Given the description of an element on the screen output the (x, y) to click on. 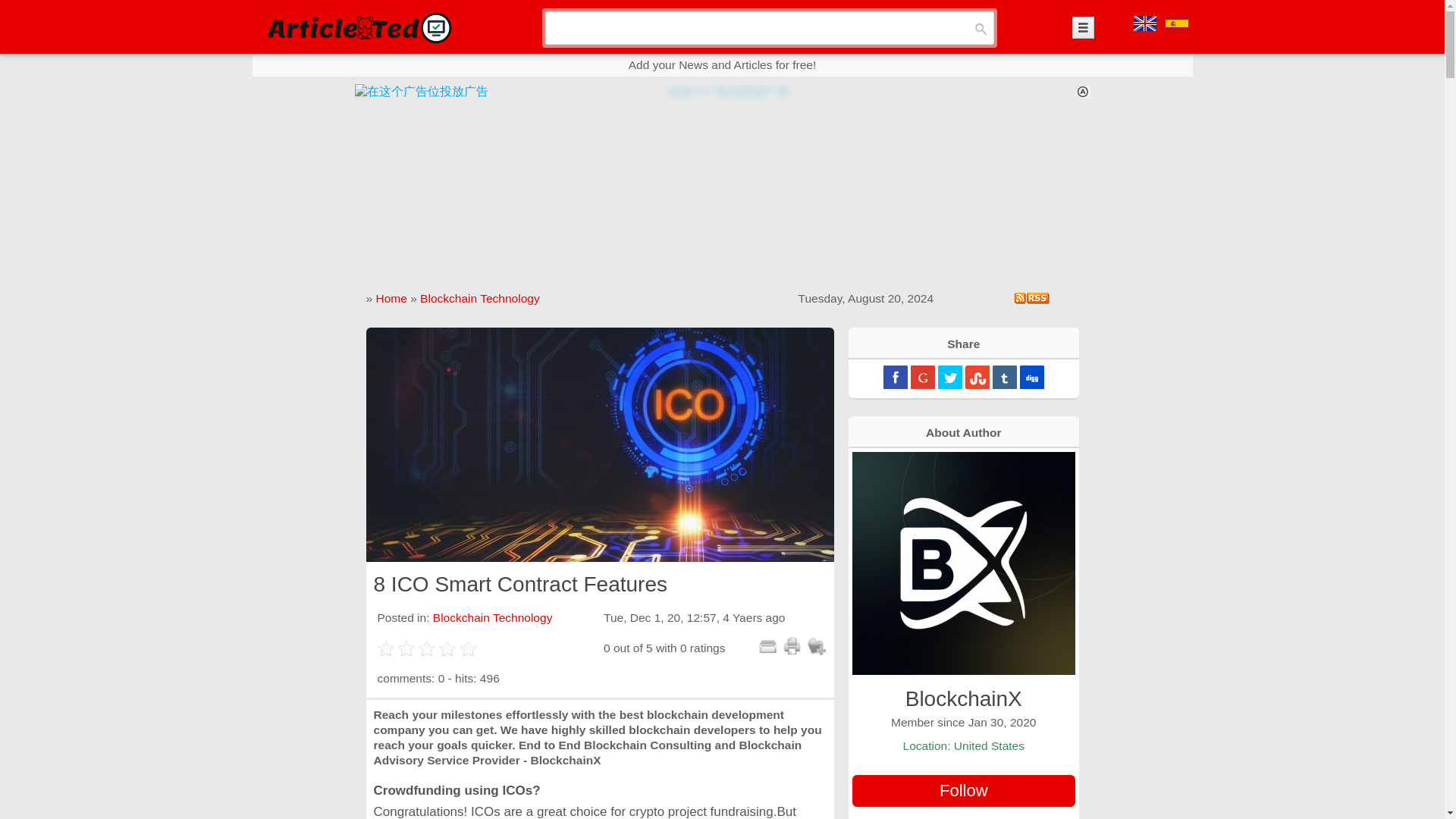
ArticleTed -  News and Articles (357, 27)
Home (390, 297)
Follow (963, 790)
8 ICO Smart Contract Features (598, 444)
Blockchain Technology (480, 297)
Blockchain Technology (492, 617)
